Given the description of an element on the screen output the (x, y) to click on. 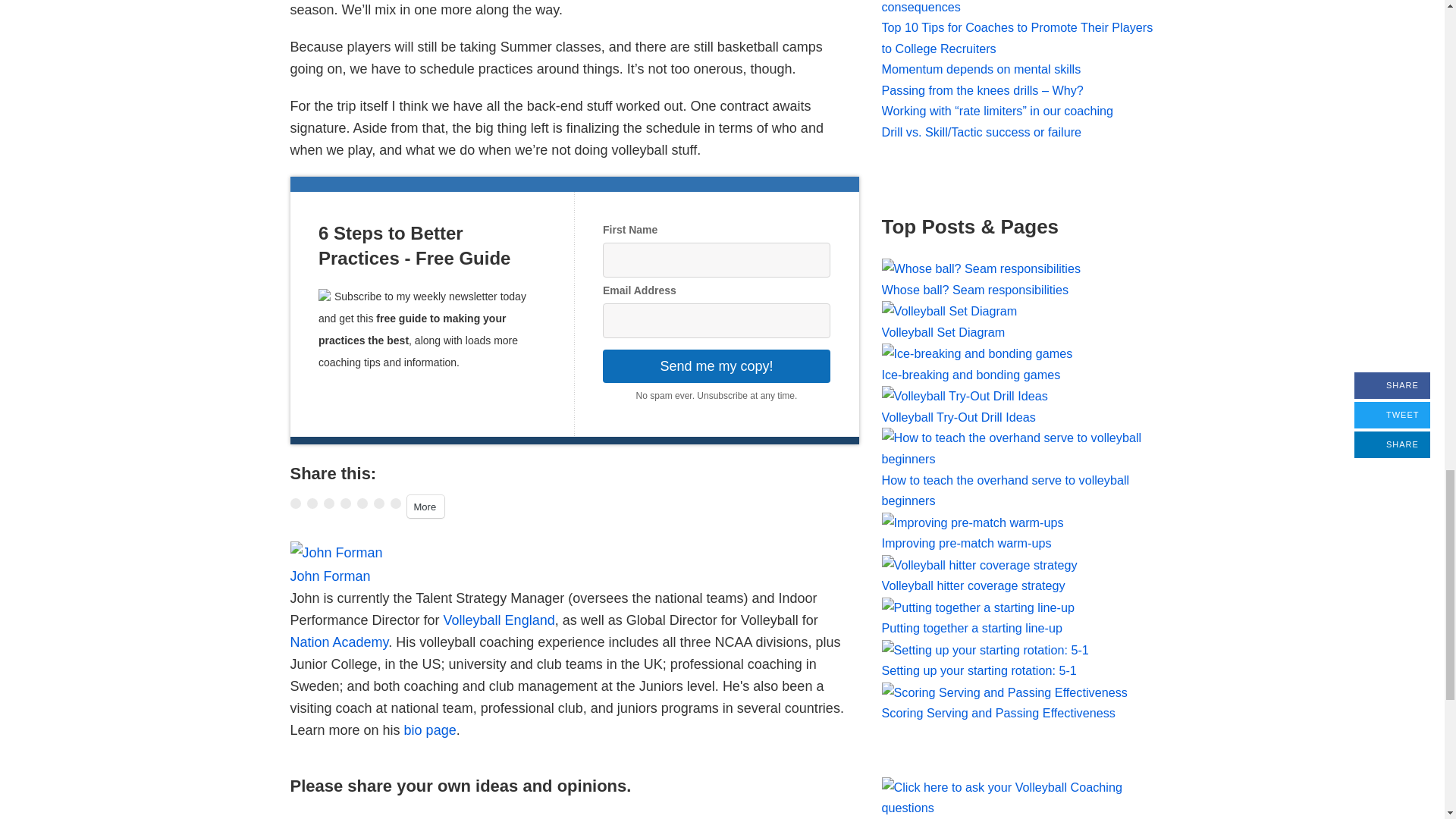
Click to share on WhatsApp (378, 502)
Click to share on Facebook (311, 502)
Send me my copy! (715, 366)
Click to email a link to a friend (395, 502)
Click to share on Pocket (344, 502)
Click to share on LinkedIn (328, 502)
Click to share on Twitter (294, 502)
Click to share on Pinterest (361, 502)
